Given the description of an element on the screen output the (x, y) to click on. 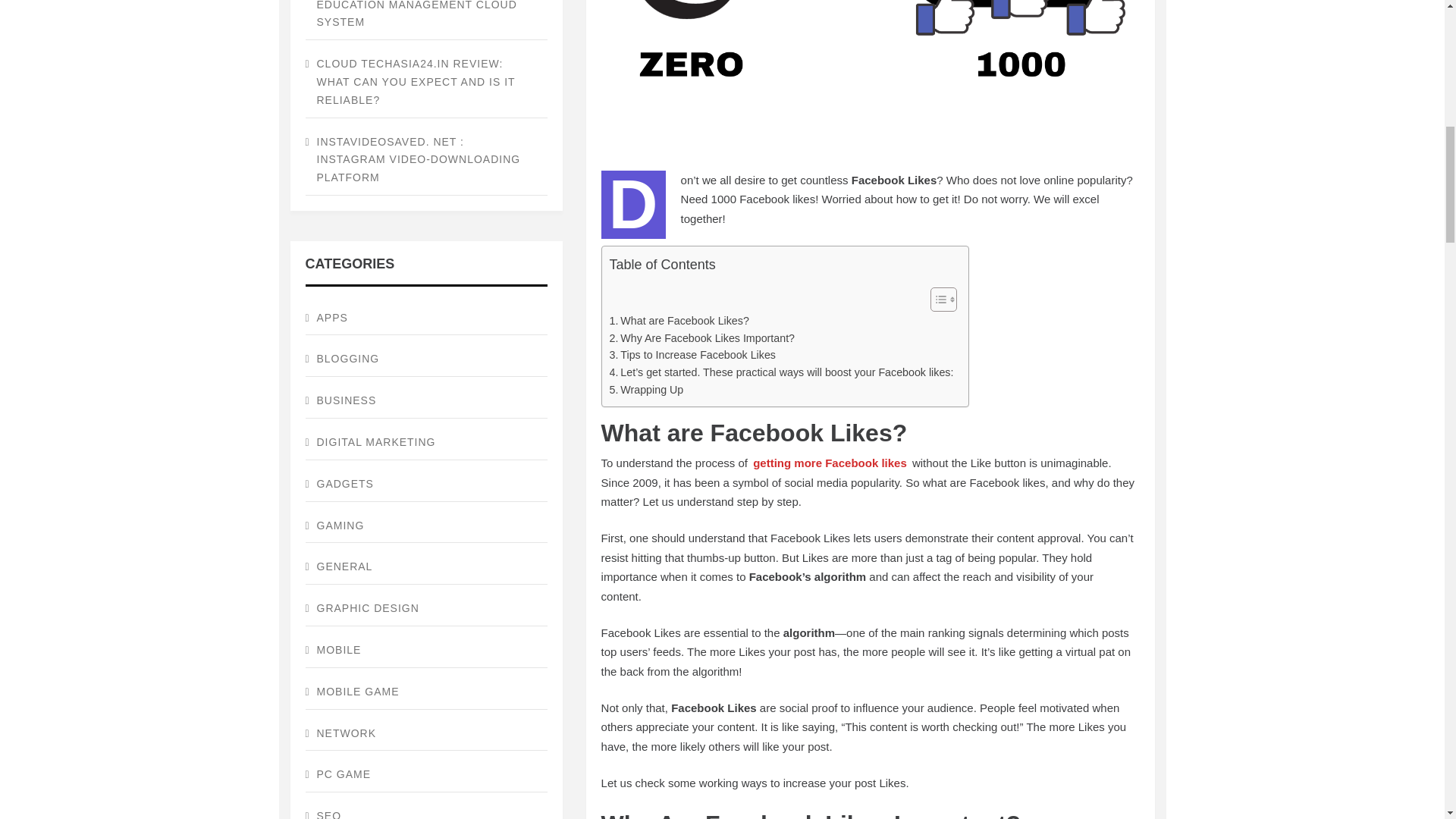
Wrapping Up (647, 389)
Why Are Facebook Likes Important? (702, 338)
Why Are Facebook Likes Important? (702, 338)
Tips to Increase Facebook Likes (693, 354)
What are Facebook Likes? (679, 321)
What are Facebook Likes? (679, 321)
getting more Facebook likes (829, 462)
Wrapping Up (647, 389)
Tips to Increase Facebook Likes (693, 354)
